Given the description of an element on the screen output the (x, y) to click on. 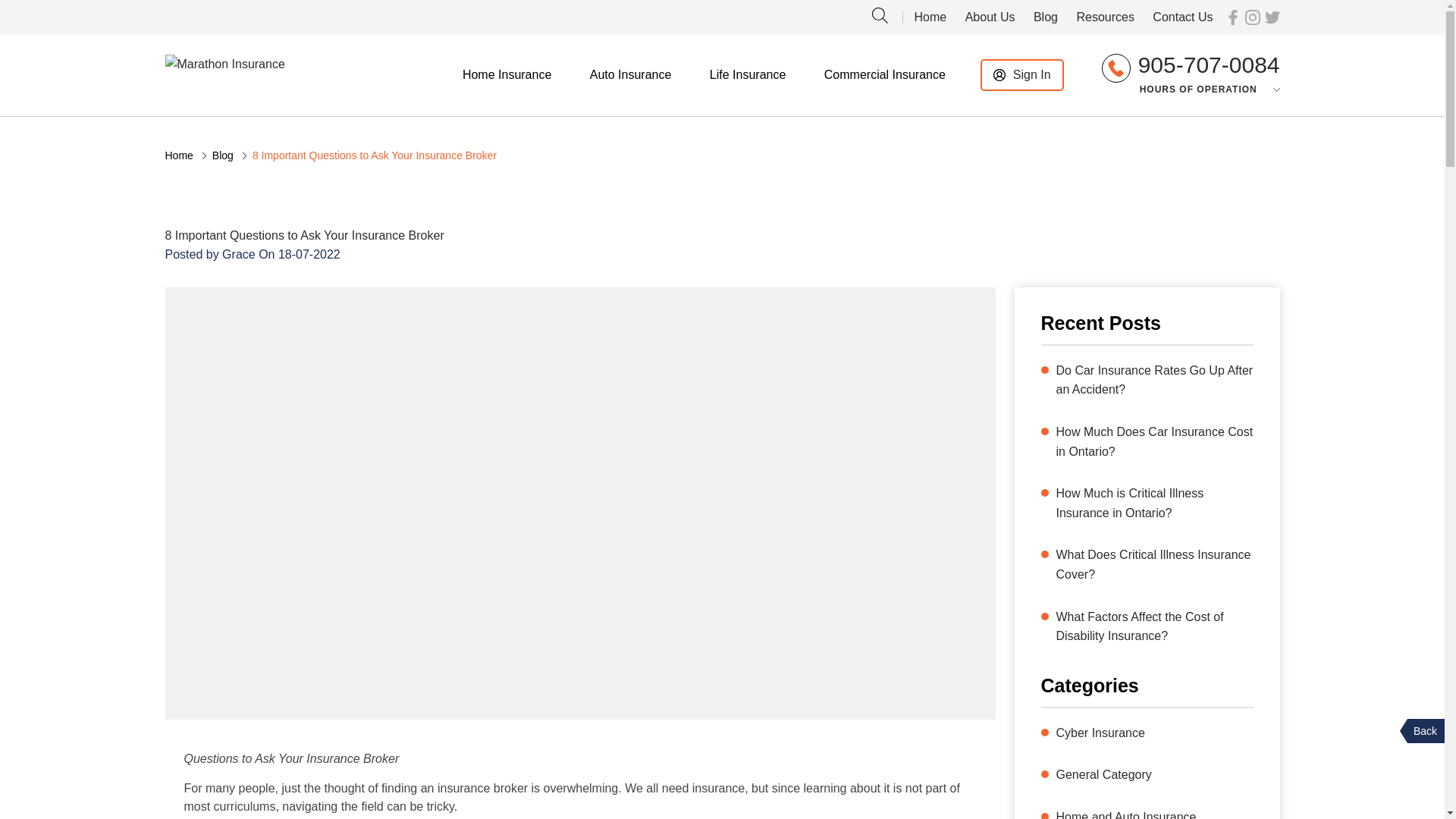
Do Car Insurance Rates Go Up After an Accident? (1153, 380)
What Does Critical Illness Insurance Cover? (1153, 564)
Home (179, 155)
Cyber Insurance (1099, 732)
What Factors Affect the Cost of Disability Insurance? (1153, 626)
905-707-0084 (1208, 68)
How Much is Critical Illness Insurance in Ontario? (1153, 503)
Contact Us (1182, 17)
Marathon Insurance (225, 64)
Resources (1104, 17)
Blog (222, 155)
Home Insurance (507, 75)
Home (930, 17)
Blog (1045, 17)
Auto Insurance (630, 75)
